Given the description of an element on the screen output the (x, y) to click on. 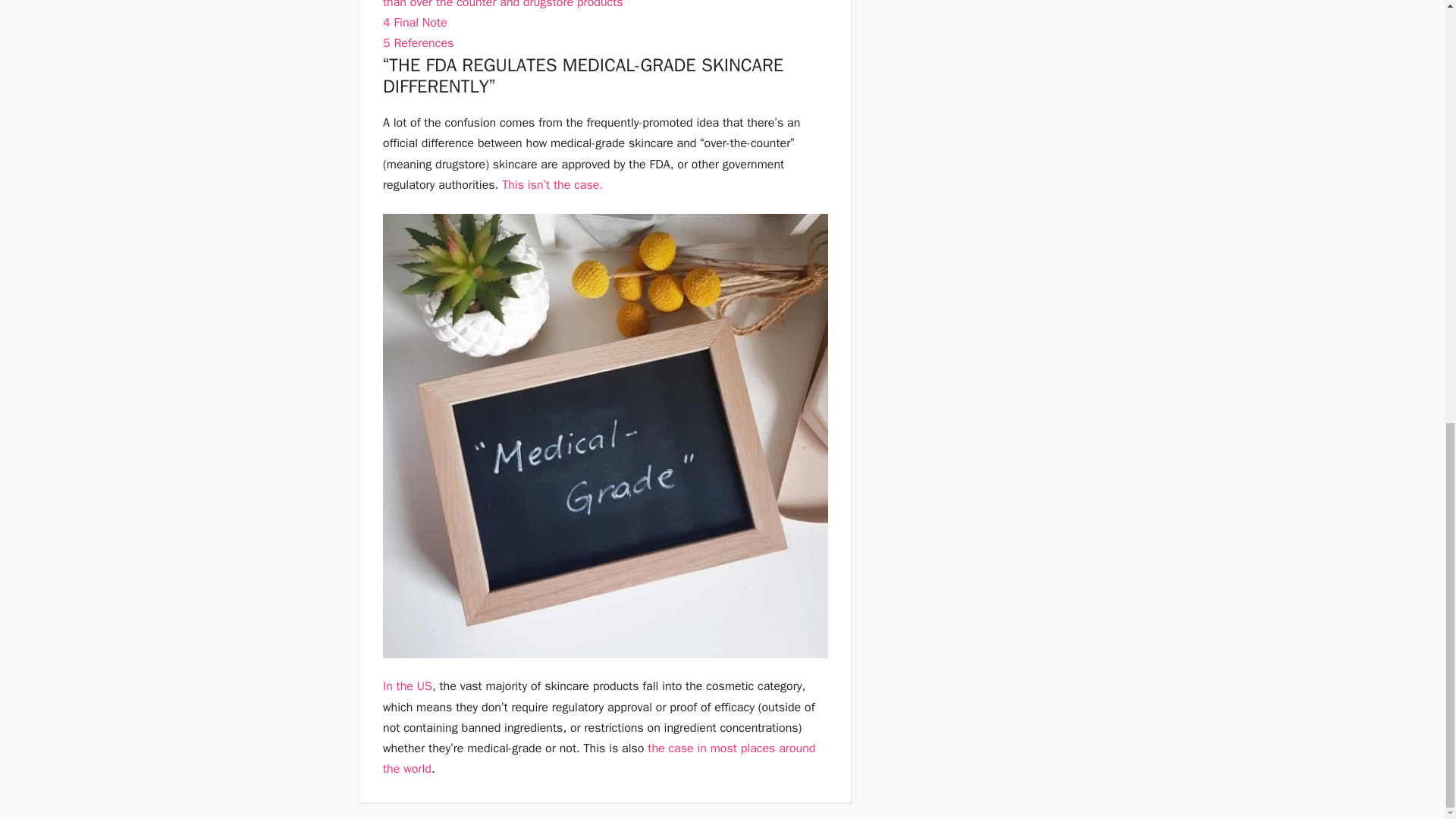
most places (743, 748)
the case in (676, 748)
around (796, 748)
5 References (417, 43)
In the US (407, 685)
4 Final Note (414, 22)
the world (406, 768)
